Given the description of an element on the screen output the (x, y) to click on. 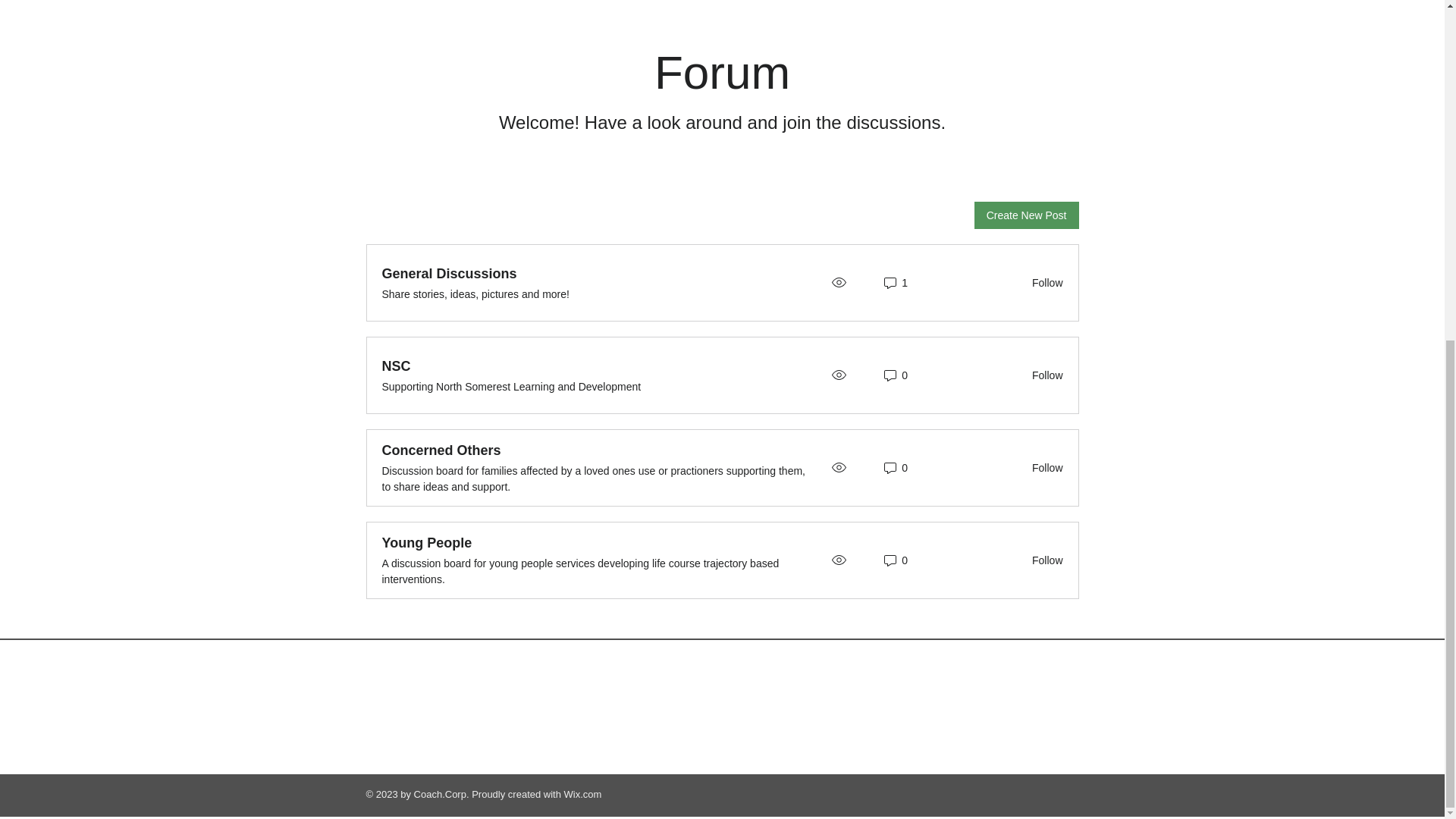
Wix.com (583, 794)
Follow (1042, 282)
NSC (395, 366)
Follow (1042, 375)
Create New Post (1026, 215)
Follow (1042, 560)
Young People (426, 543)
Follow (1042, 467)
General Discussions (448, 273)
Concerned Others (440, 450)
